Given the description of an element on the screen output the (x, y) to click on. 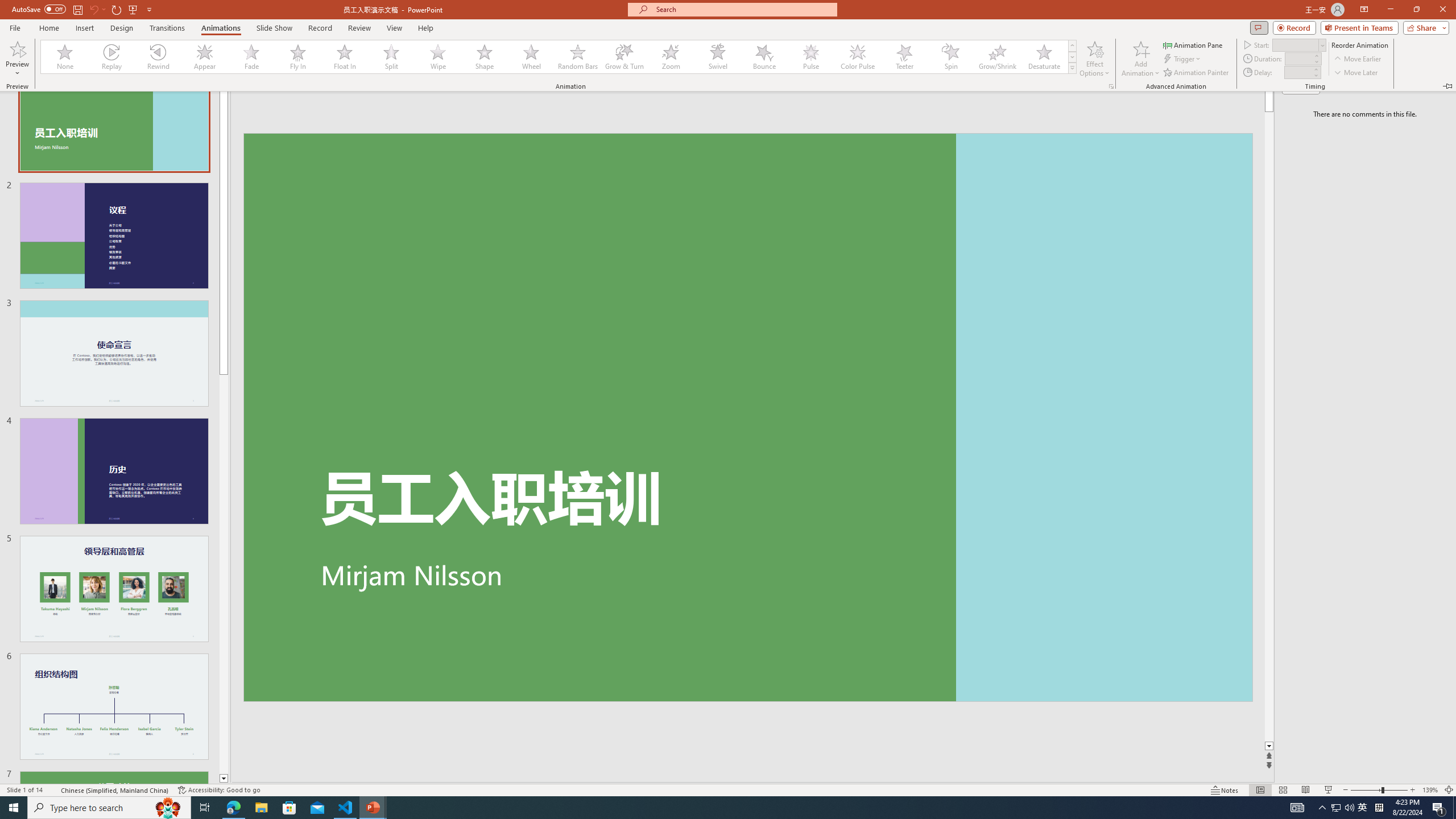
Spell Check  (52, 790)
